Given the description of an element on the screen output the (x, y) to click on. 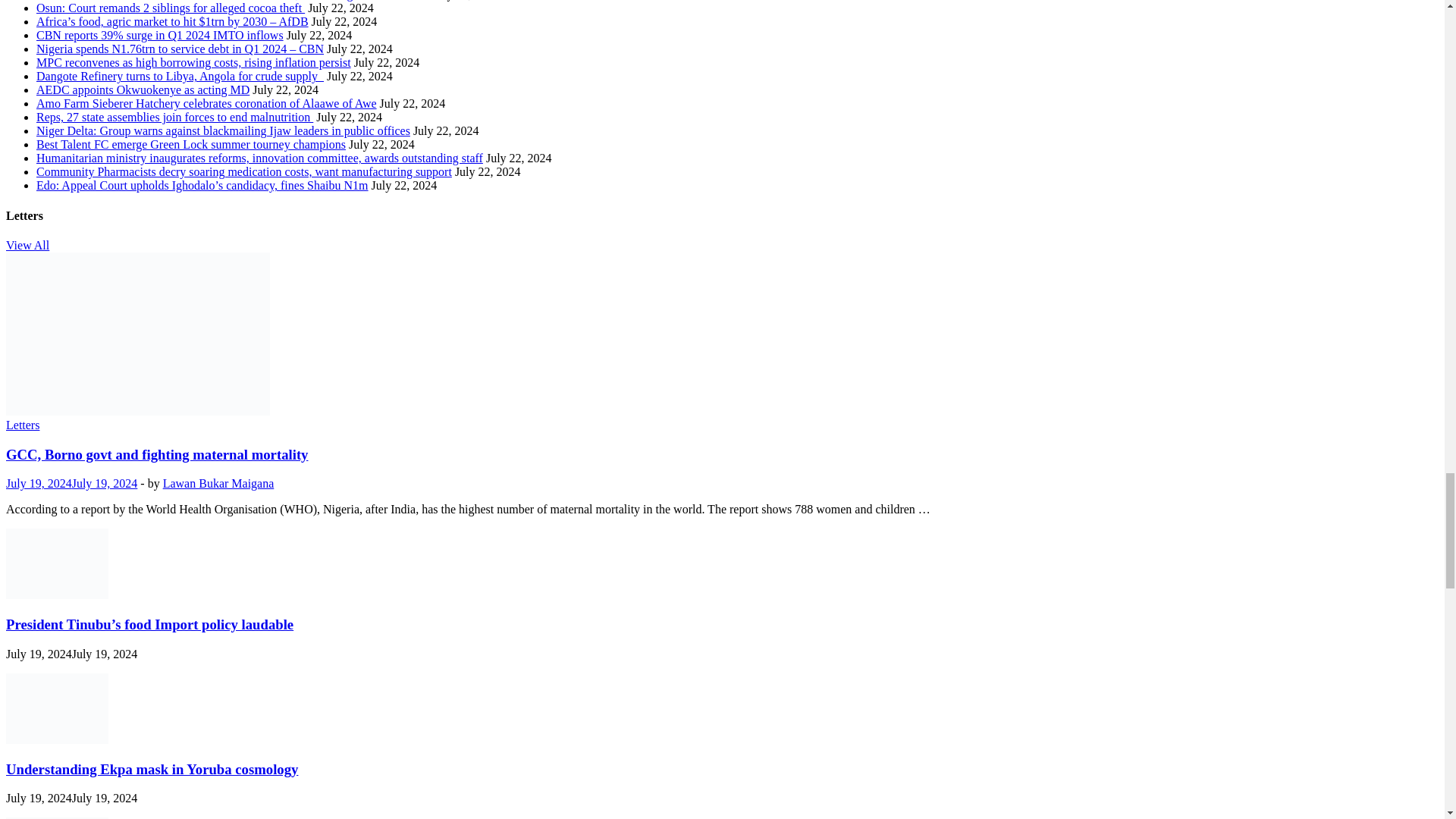
GCC, Borno govt and fighting maternal mortality (137, 410)
Understanding Ekpa mask in Yoruba cosmology (56, 739)
